Given the description of an element on the screen output the (x, y) to click on. 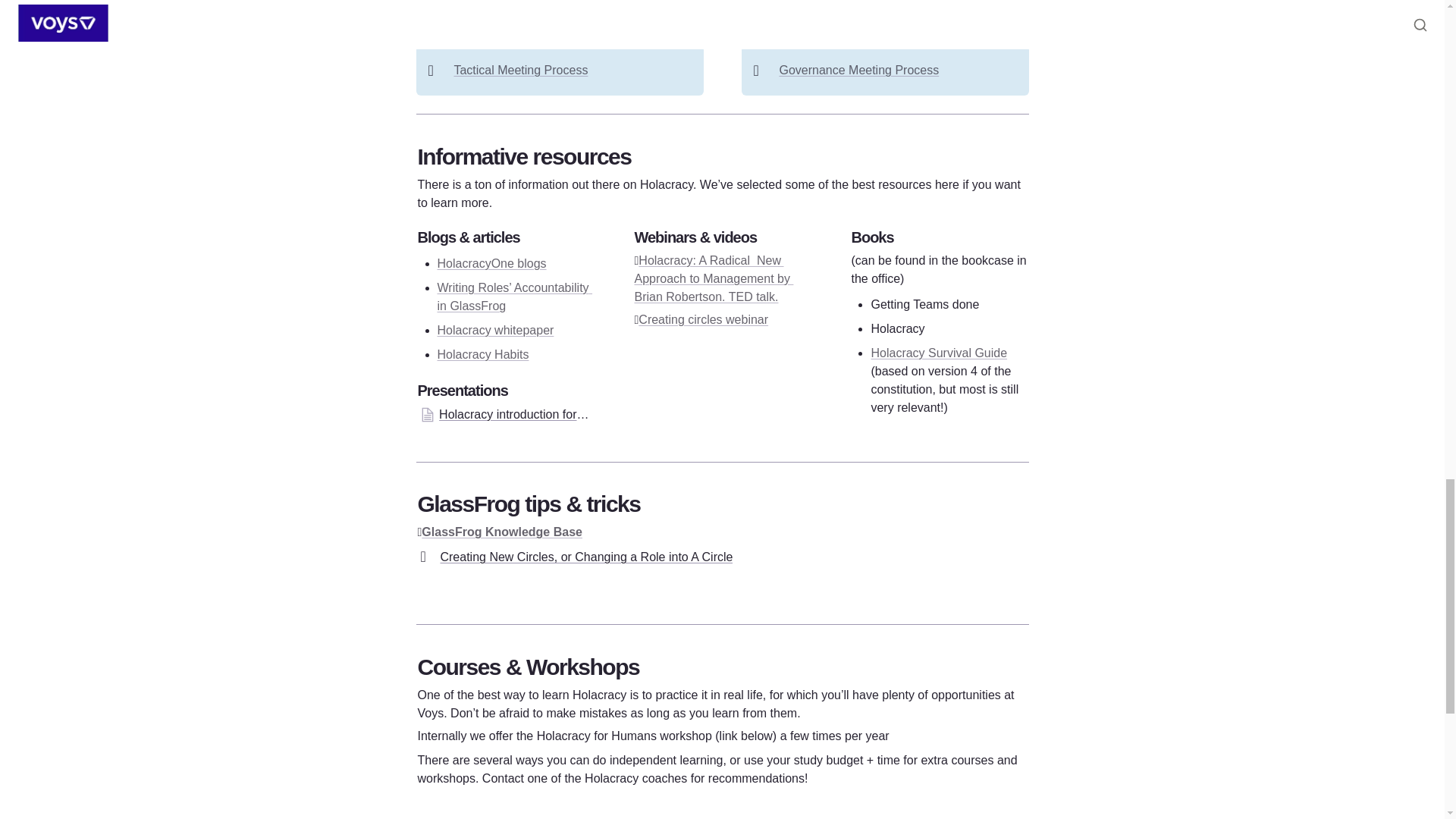
GlassFrog Knowledge Base (502, 531)
Governance Meeting Process (858, 69)
HolacracyOne blogs (491, 263)
Holacracy Survival Guide (938, 352)
Holacracy introduction for new colleagues (504, 414)
Holacracy Habits (482, 354)
Tactical Meeting Process (520, 69)
Holacracy whitepaper (494, 329)
Creating circles webinar (703, 318)
